Given the description of an element on the screen output the (x, y) to click on. 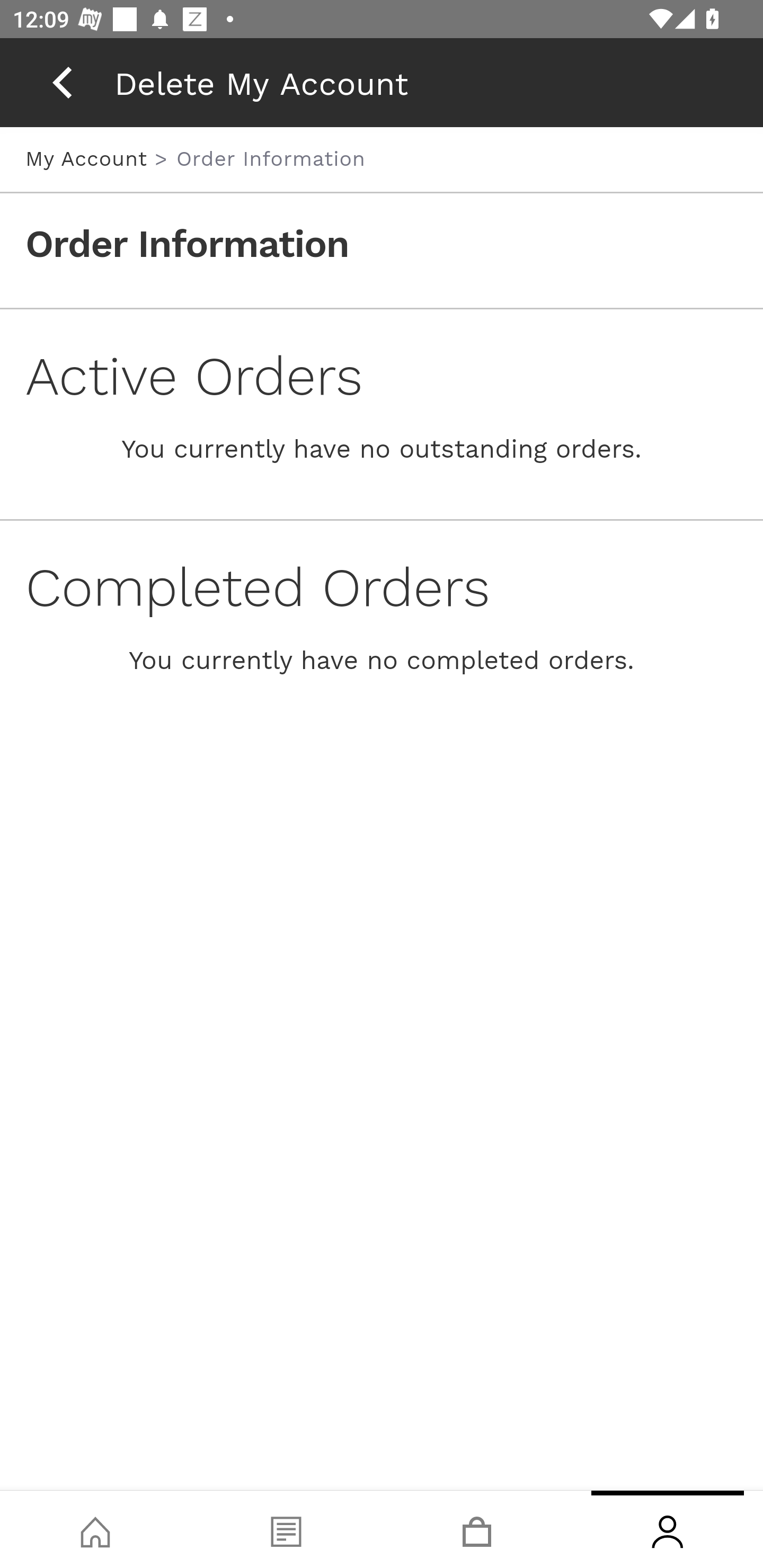
back (61, 82)
My Account  (90, 157)
Shop, tab, 1 of 4 (95, 1529)
Blog, tab, 2 of 4 (285, 1529)
Basket, tab, 3 of 4 (476, 1529)
Account, tab, 4 of 4 (667, 1529)
